Given the description of an element on the screen output the (x, y) to click on. 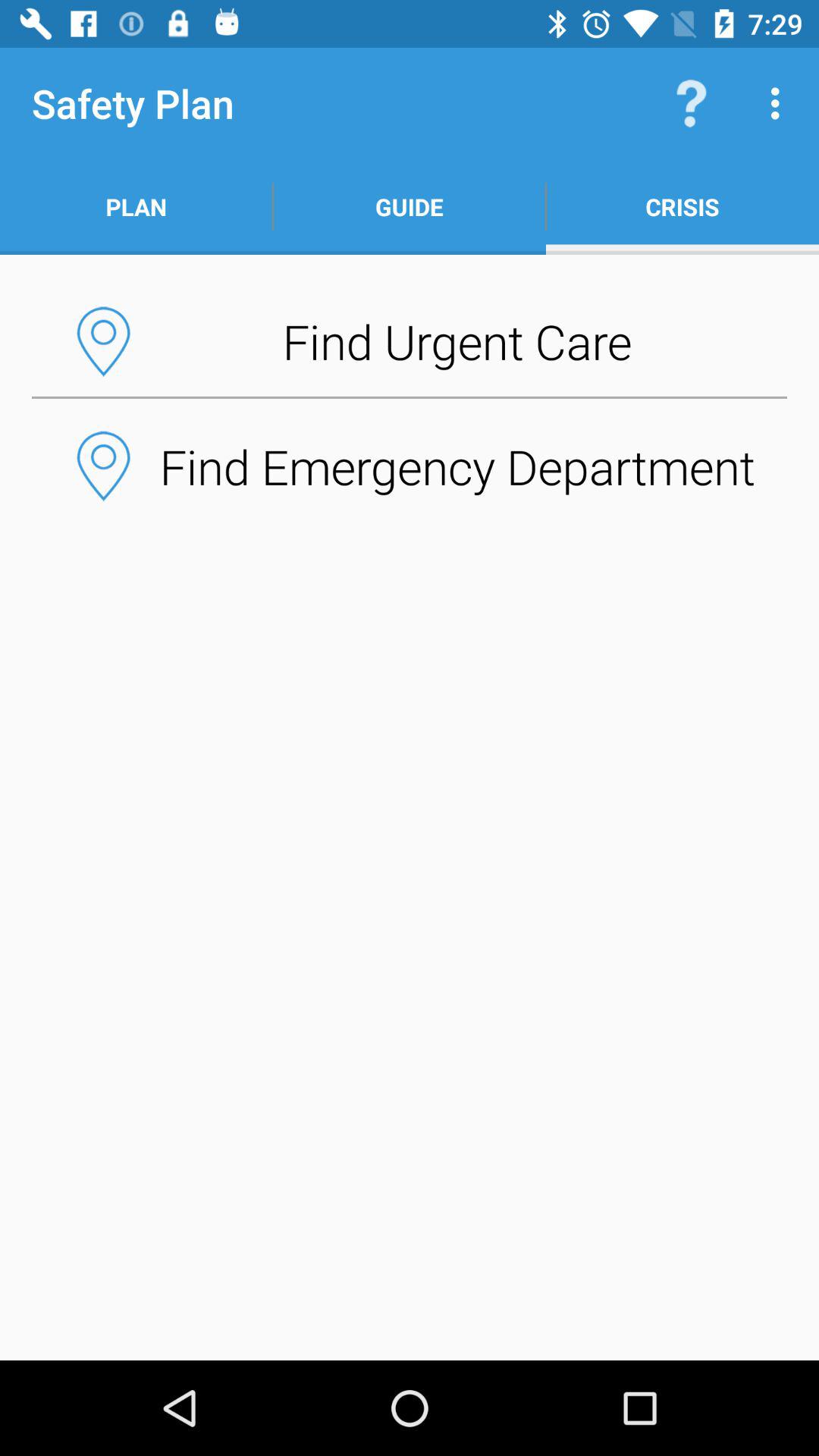
turn on item next to crisis icon (409, 206)
